Given the description of an element on the screen output the (x, y) to click on. 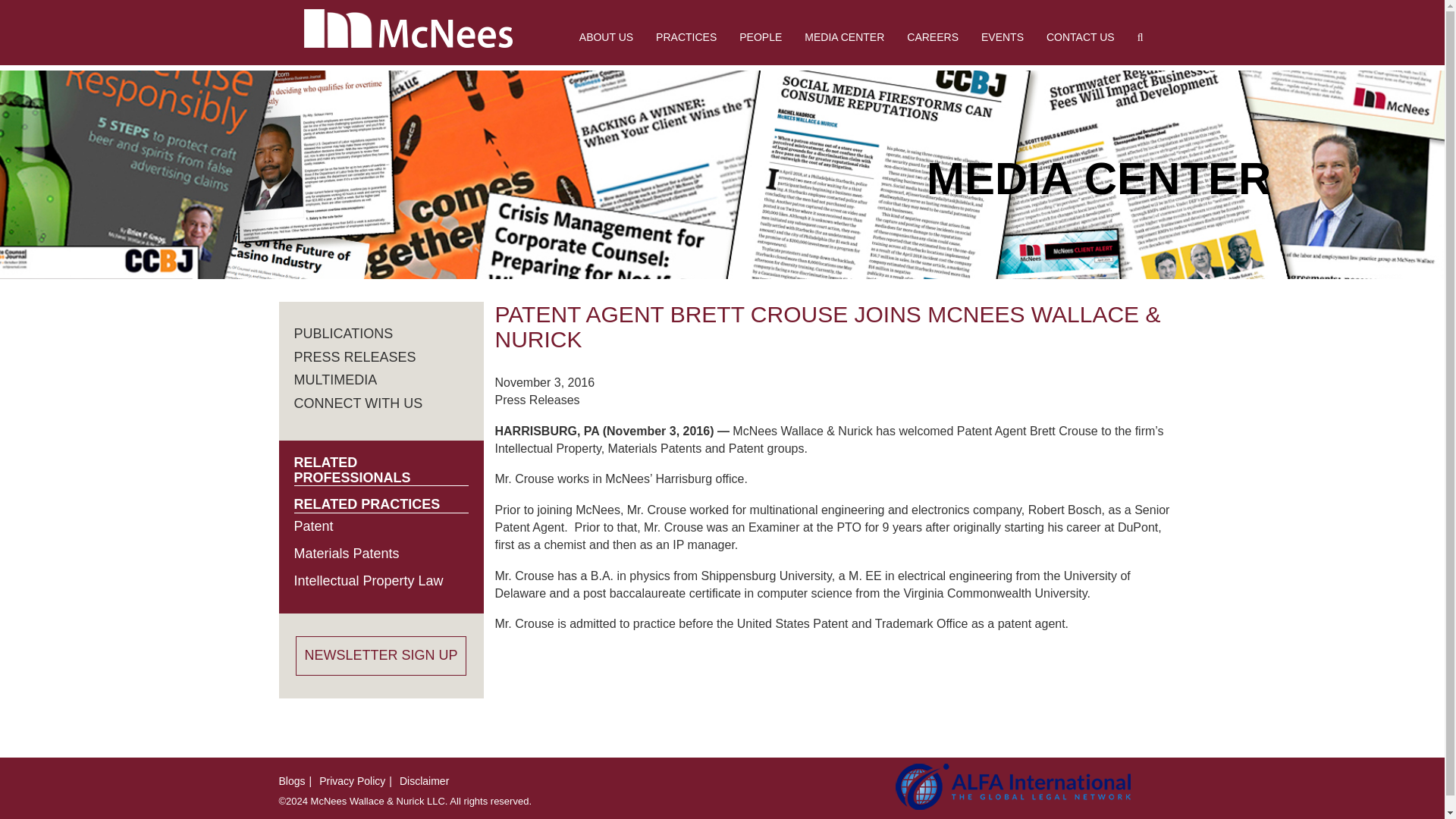
Patent (313, 525)
CAREERS (932, 37)
Blogs (292, 780)
NEWSLETTER SIGN UP (380, 655)
MULTIMEDIA (335, 379)
CONNECT WITH US (358, 403)
CONTACT US (1080, 37)
PRACTICES (686, 37)
ABOUT US (606, 37)
Materials Patents (346, 553)
PUBLICATIONS (343, 333)
MEDIA CENTER (844, 37)
PEOPLE (760, 37)
Privacy Policy (351, 780)
PRESS RELEASES (355, 356)
